Given the description of an element on the screen output the (x, y) to click on. 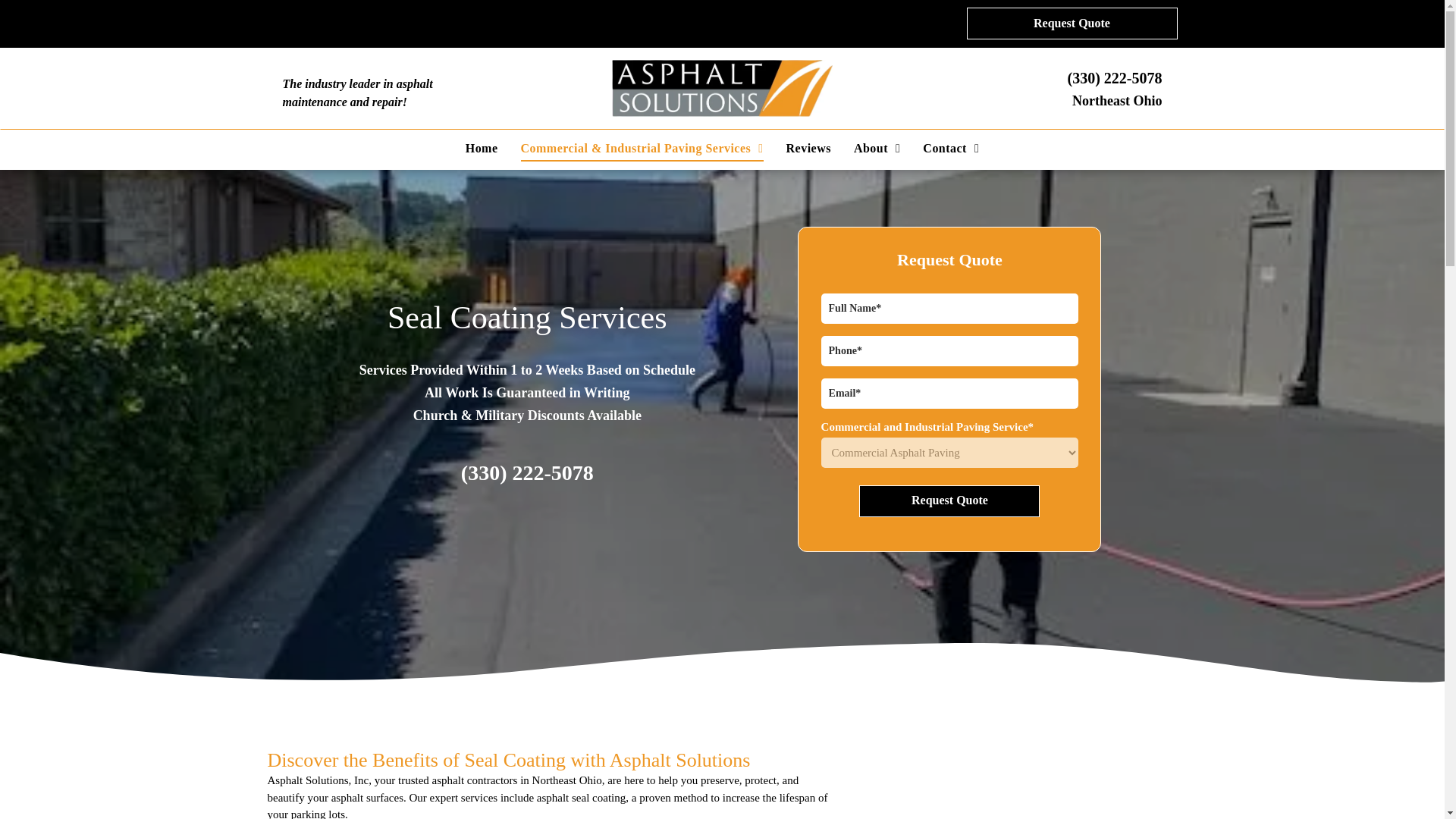
Request Quote (948, 500)
Reviews (808, 147)
Home (481, 147)
Contact (950, 147)
About (877, 147)
Request Quote (948, 500)
Request Quote (1071, 23)
